Given the description of an element on the screen output the (x, y) to click on. 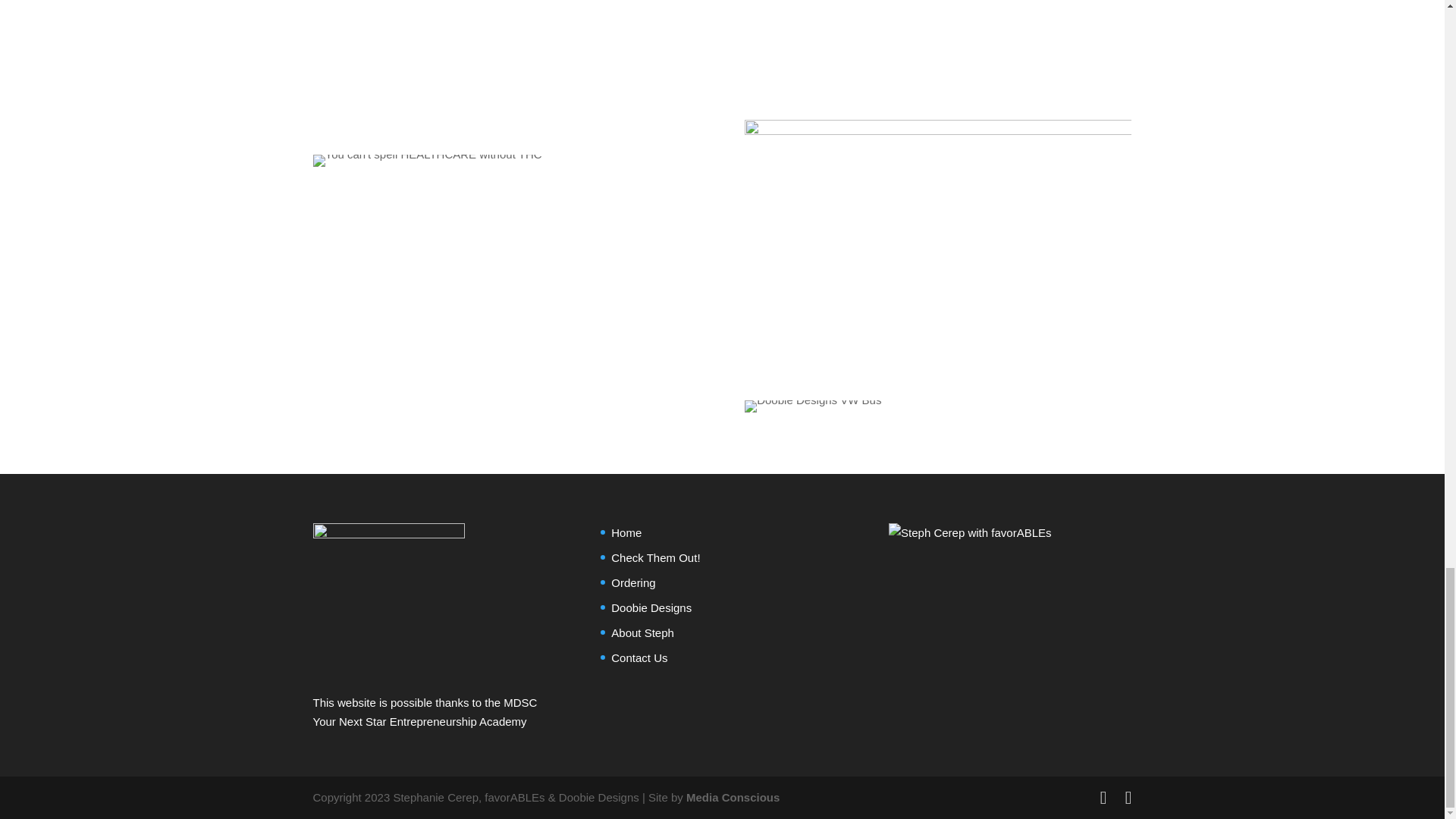
Doobie-Designs-Healthcare (427, 160)
Doobie-Designs-Wake-n-Bake (937, 48)
Check Them Out! (655, 557)
Home (626, 532)
About Steph (642, 632)
Doobie Designs (651, 607)
Contact Us (638, 657)
Doobie-Designs-Seaweed (937, 248)
Media Conscious (731, 797)
Doobie-Designs-token (505, 65)
